Given the description of an element on the screen output the (x, y) to click on. 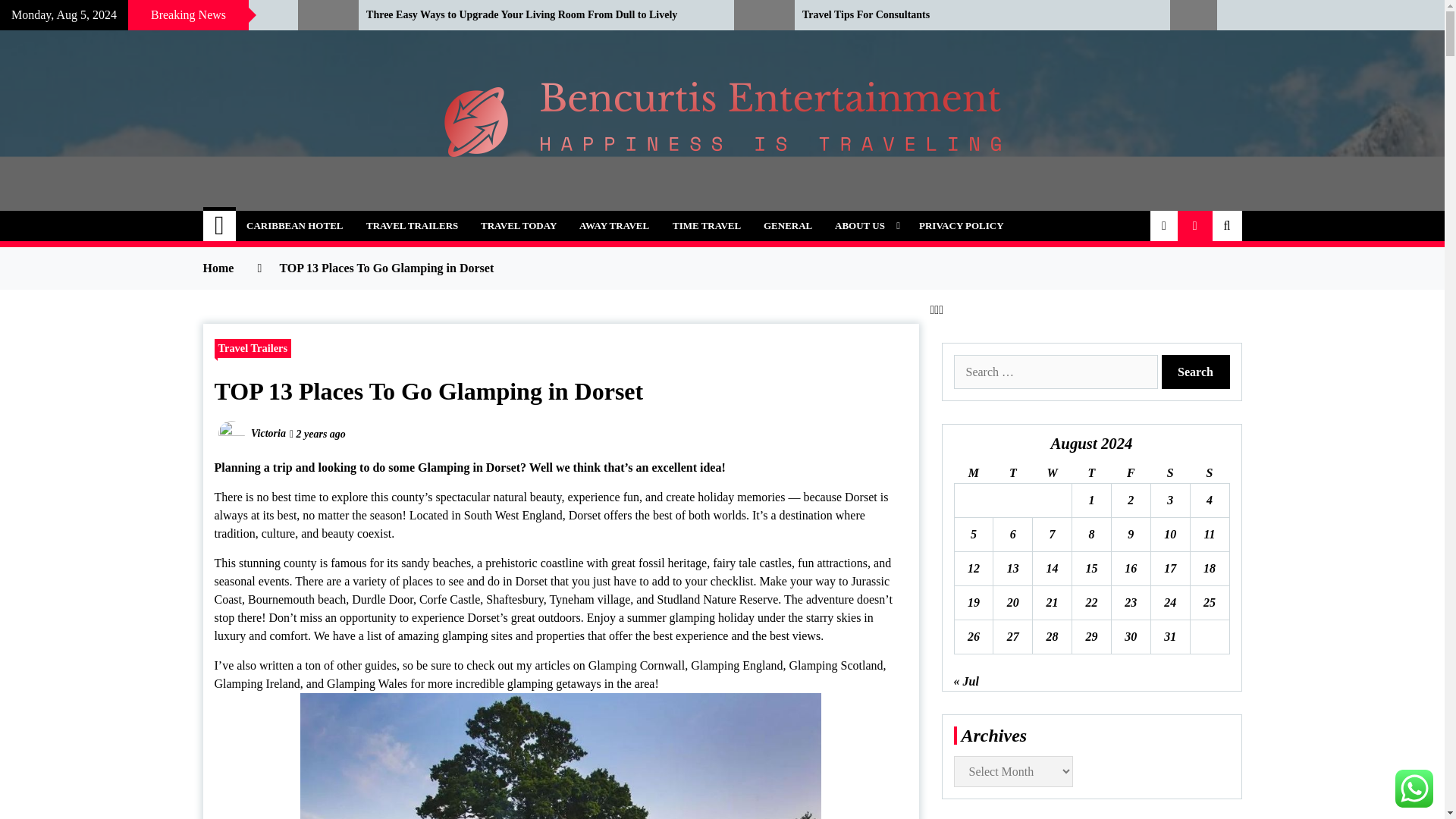
Reasons for Choosing Curacao As a Travel Destination (137, 15)
Search (1195, 371)
Home (219, 225)
Search (1195, 371)
Travel Tips For Consultants (974, 15)
